Given the description of an element on the screen output the (x, y) to click on. 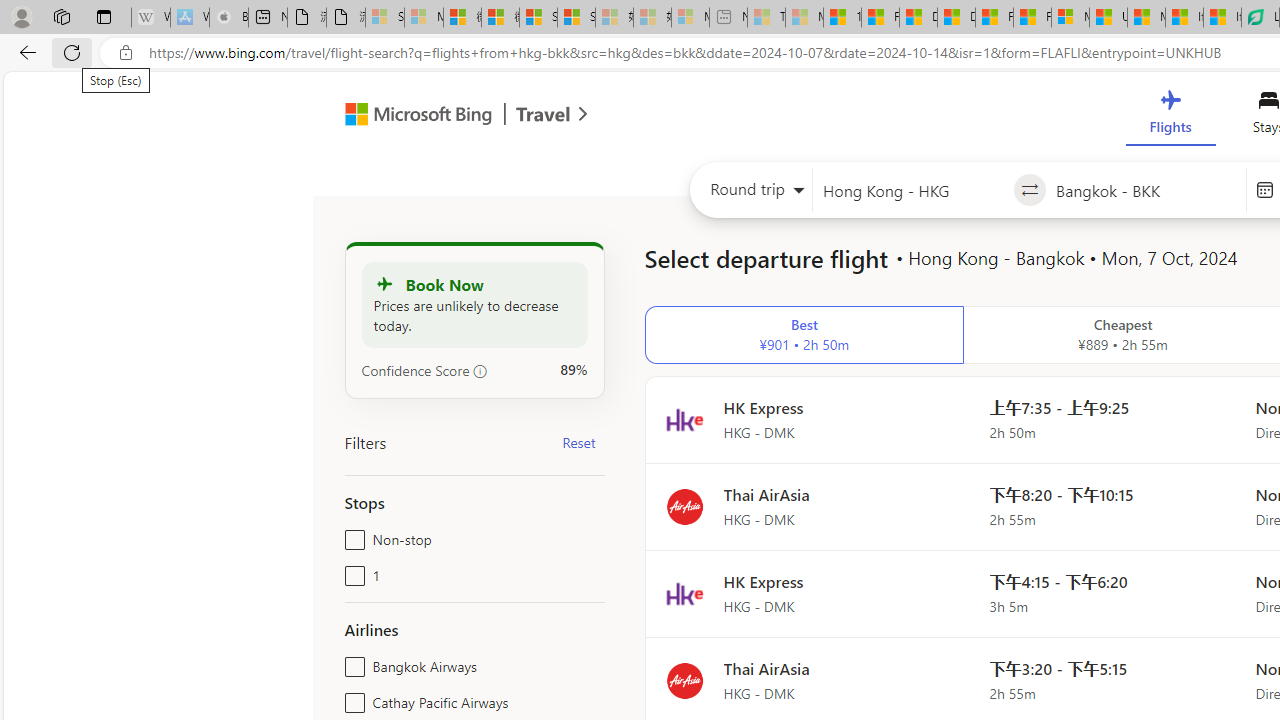
Sign in to your Microsoft account - Sleeping (385, 17)
Microsoft Services Agreement - Sleeping (423, 17)
Microsoft account | Account Checkup - Sleeping (690, 17)
Non-stop (351, 535)
Bangkok Airways (351, 662)
Buy iPad - Apple - Sleeping (228, 17)
Class: autosuggest-container full-height no-y-padding (1145, 190)
Top Stories - MSN - Sleeping (765, 17)
